Given the description of an element on the screen output the (x, y) to click on. 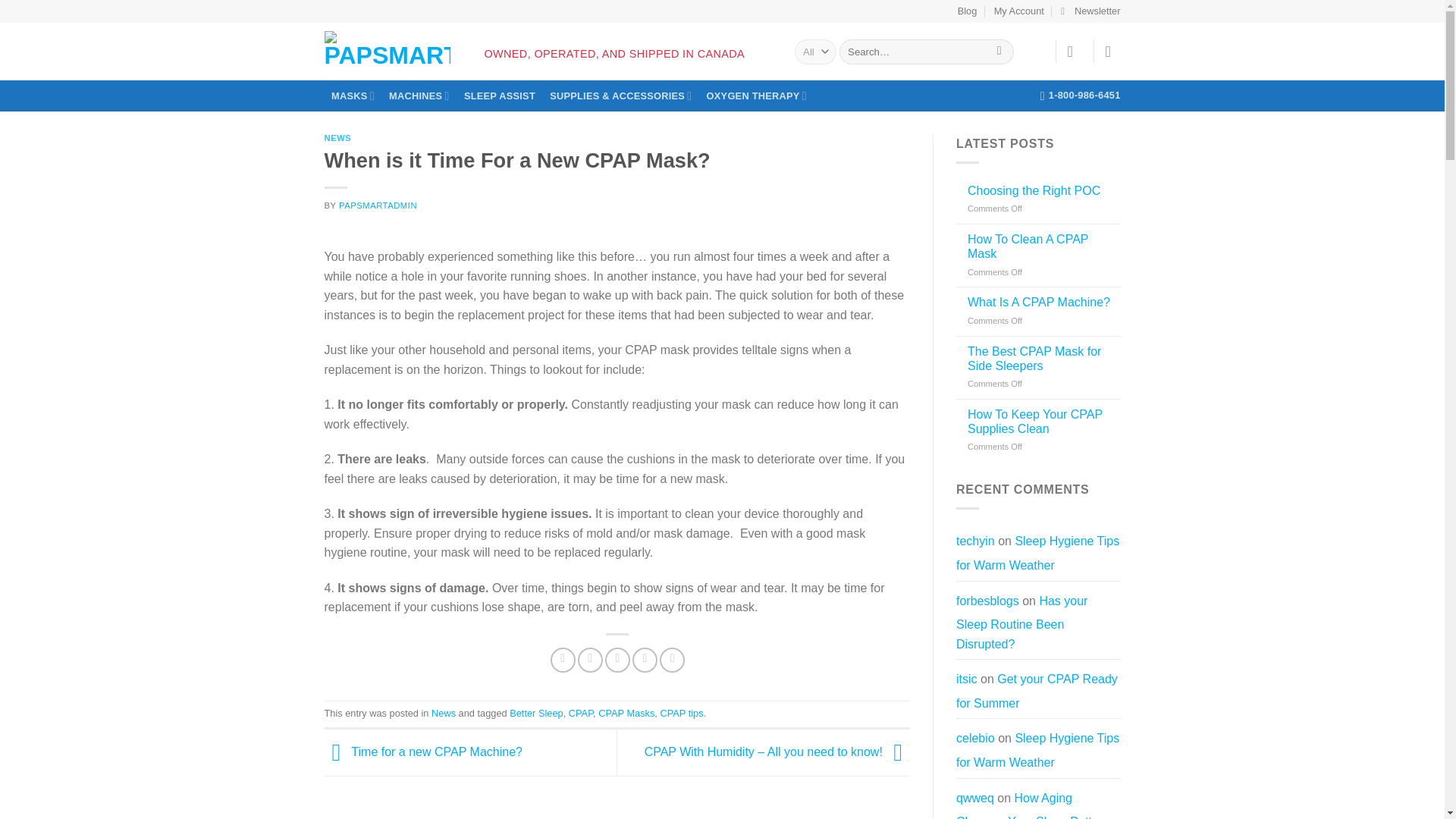
Pin on Pinterest (644, 659)
MACHINES (419, 96)
OXYGEN THERAPY (755, 96)
MASKS (352, 96)
Newsletter (1090, 11)
PAPSmart Canada - Owned, operated, and shipped in Canada (386, 47)
NEWS (338, 137)
Email to a Friend (617, 659)
Share on LinkedIn (671, 659)
Share on Facebook (562, 659)
Share on Twitter (590, 659)
SLEEP ASSIST (499, 96)
1-800-986-6451 (1081, 95)
Sign up for Newsletter (1090, 11)
Search (999, 52)
